Given the description of an element on the screen output the (x, y) to click on. 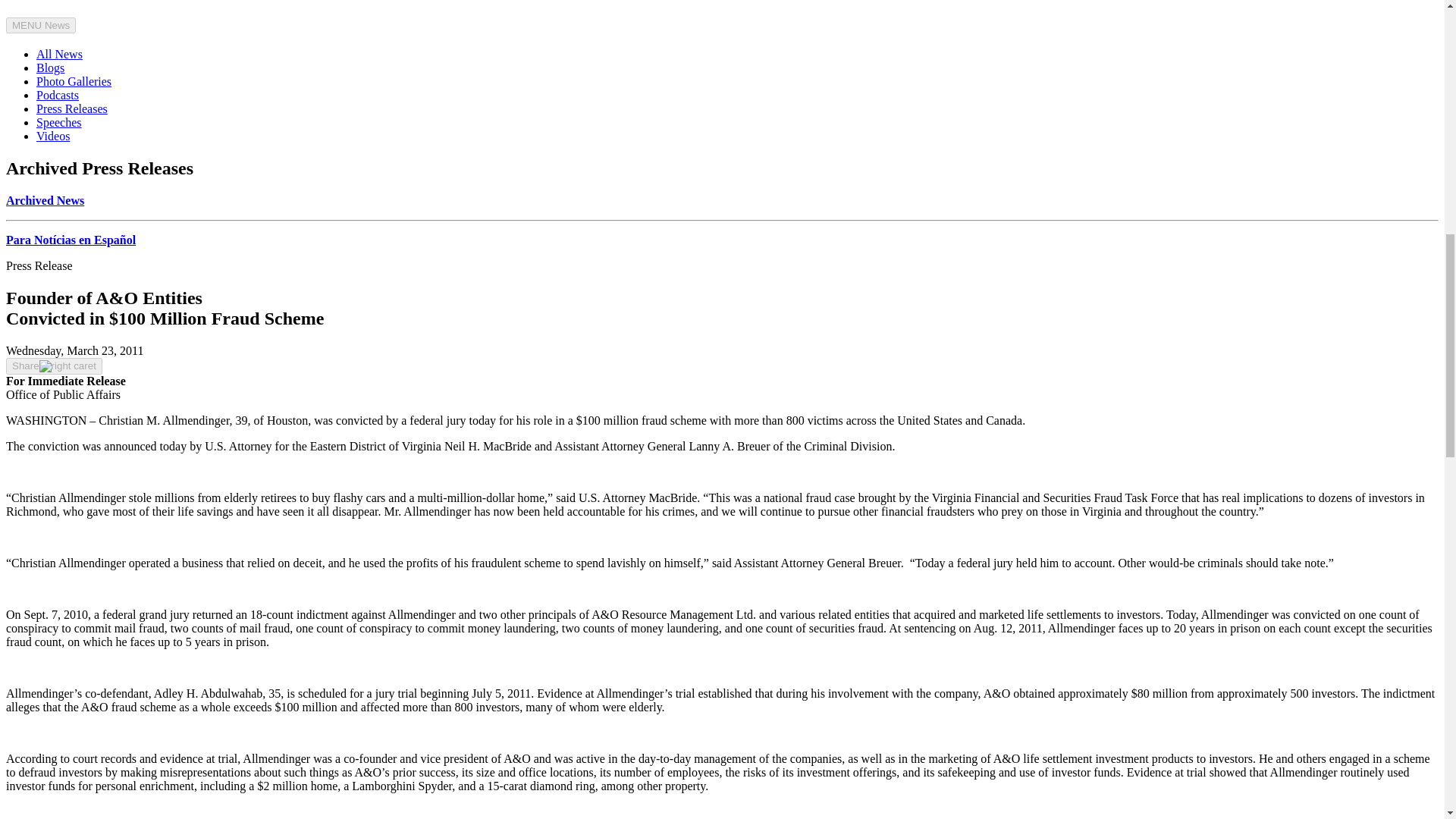
Podcasts (57, 94)
All News (59, 53)
Blogs (50, 67)
MENU News (40, 25)
Press Releases (71, 108)
Photo Galleries (74, 81)
